Given the description of an element on the screen output the (x, y) to click on. 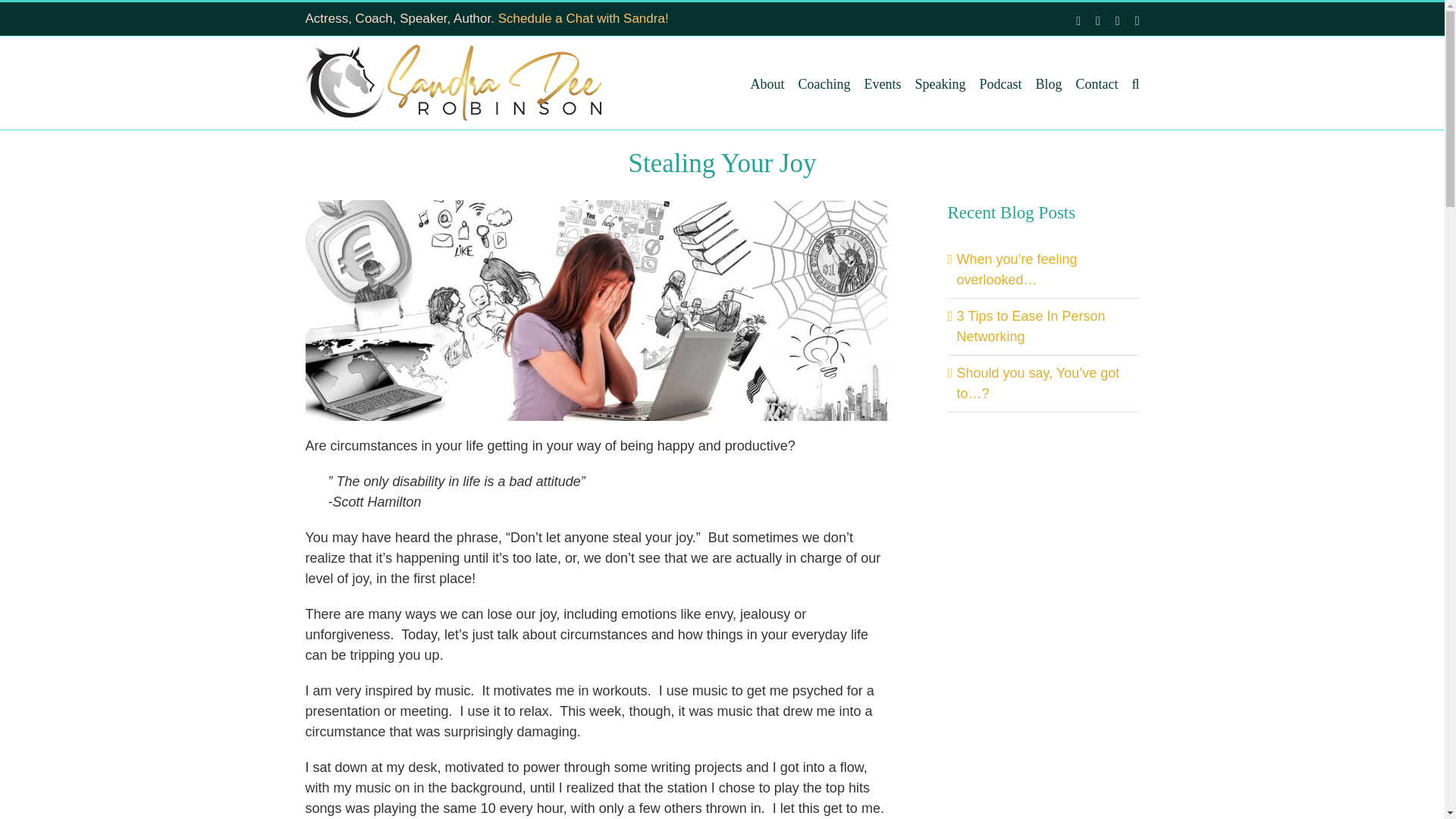
Schedule a Chat with Sandra! (582, 18)
